Given the description of an element on the screen output the (x, y) to click on. 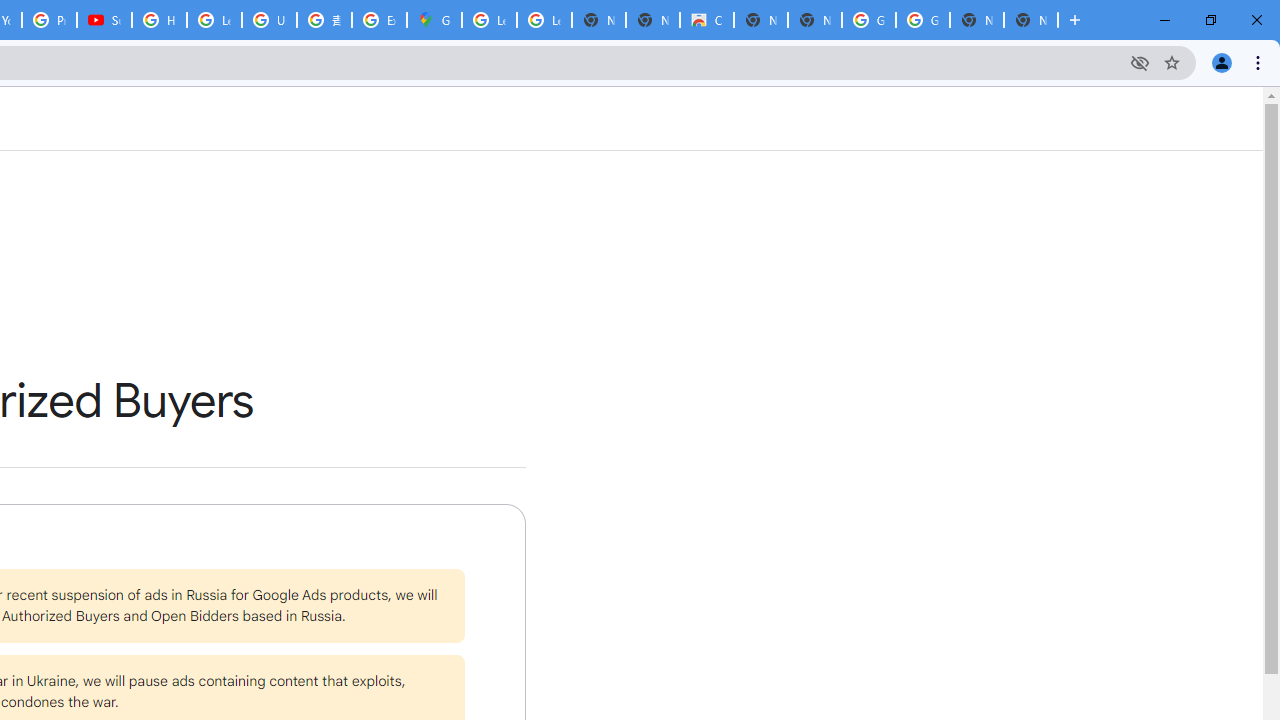
Chrome Web Store (706, 20)
Google Images (922, 20)
New Tab (1030, 20)
Explore new street-level details - Google Maps Help (379, 20)
Google Images (868, 20)
